Given the description of an element on the screen output the (x, y) to click on. 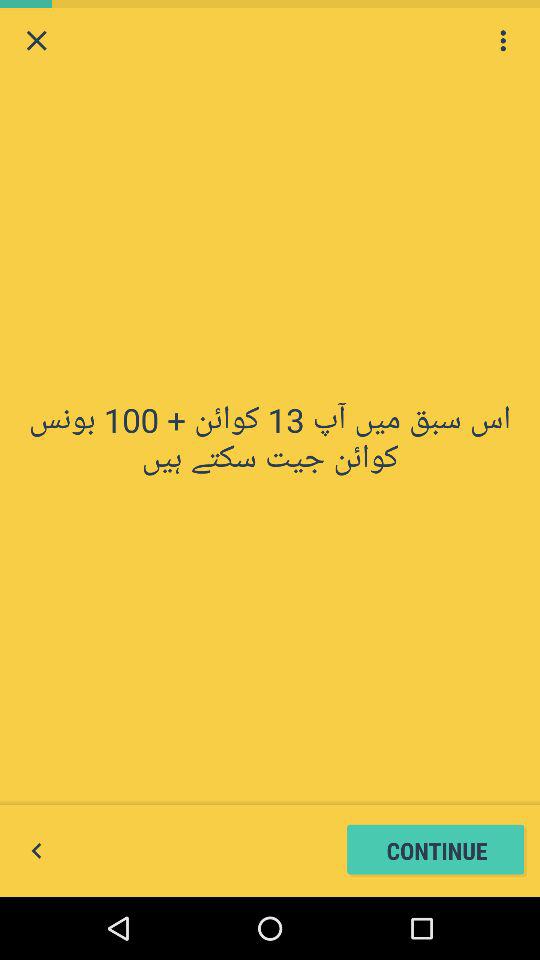
press the continue button (436, 850)
